Given the description of an element on the screen output the (x, y) to click on. 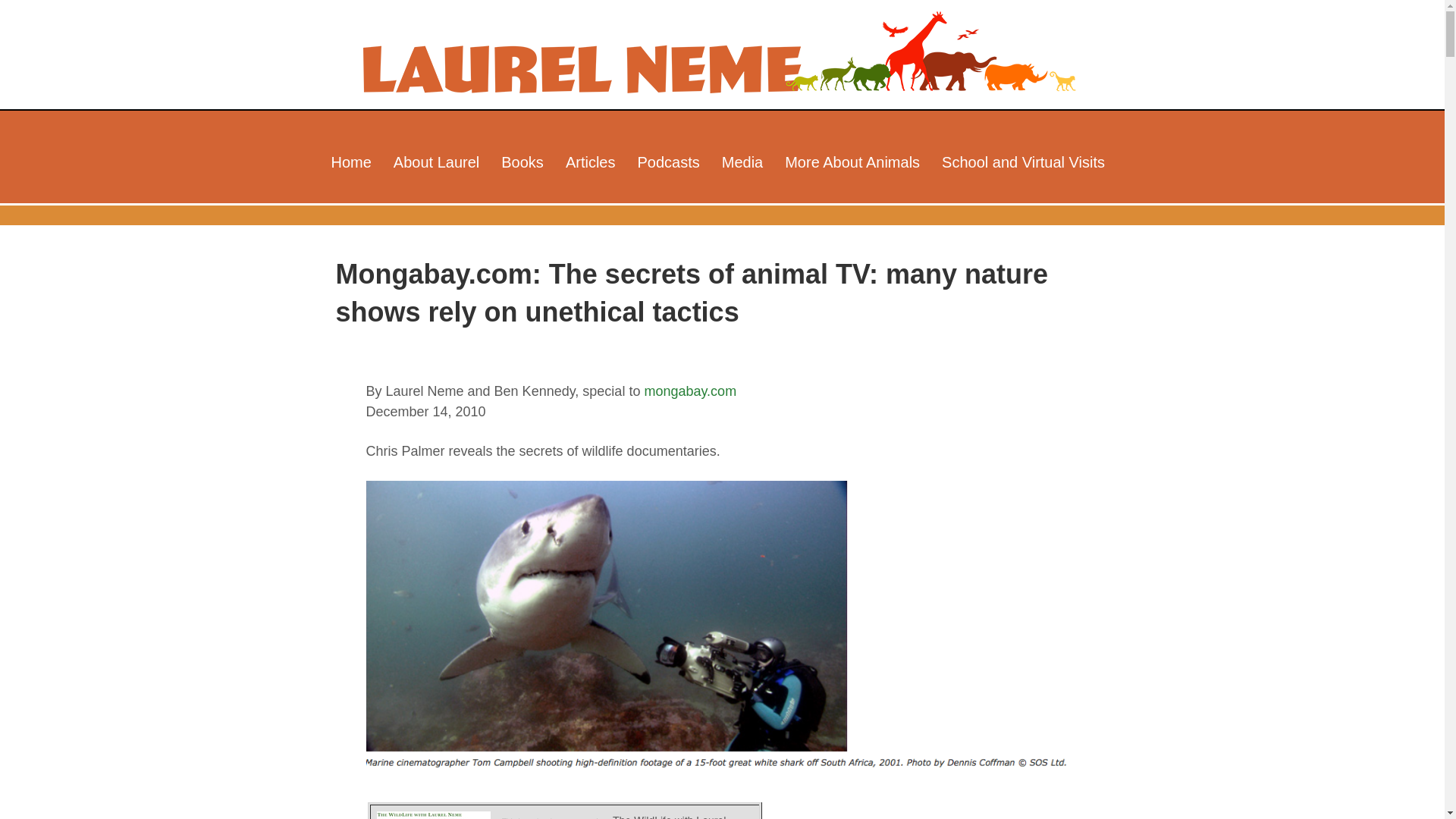
article (691, 391)
Home (350, 162)
About Laurel (435, 162)
Books (522, 162)
Articles (590, 162)
